Given the description of an element on the screen output the (x, y) to click on. 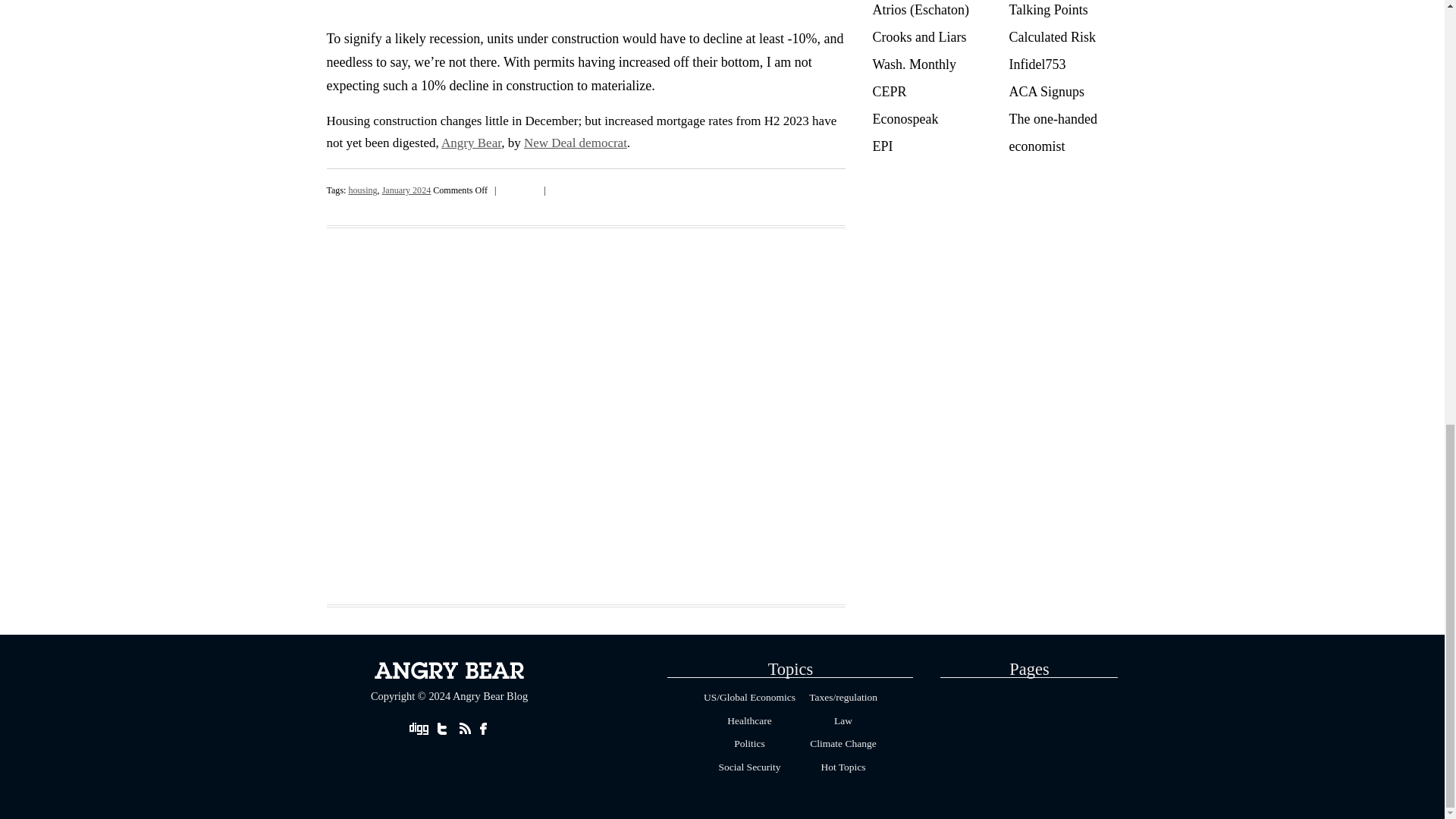
Facebook (519, 187)
housing (362, 190)
Digg (507, 187)
Angry Bear (470, 142)
New Deal democrat (575, 142)
January 2024 (405, 190)
Twitter (532, 187)
